Given the description of an element on the screen output the (x, y) to click on. 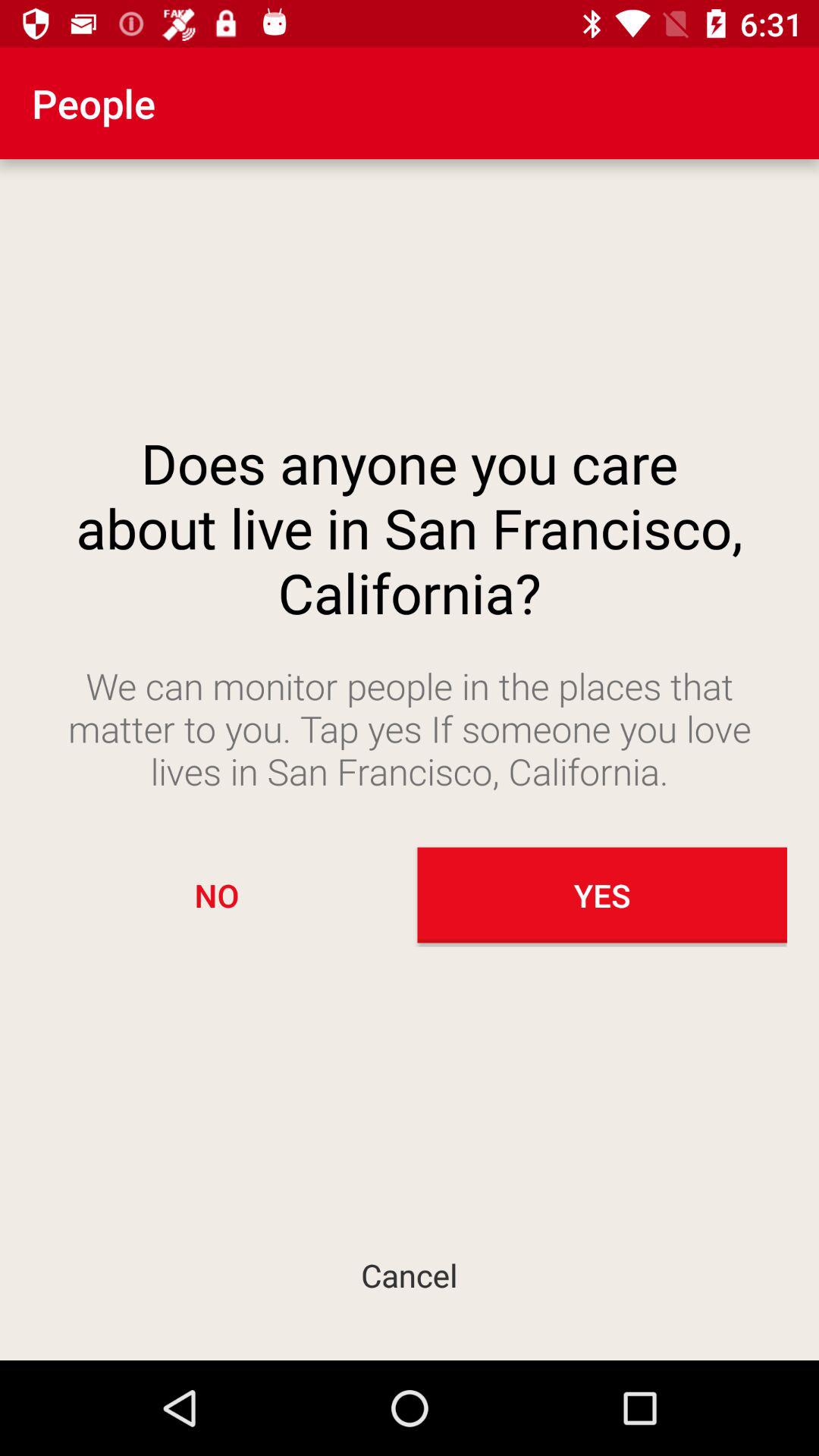
turn on the no (216, 894)
